Given the description of an element on the screen output the (x, y) to click on. 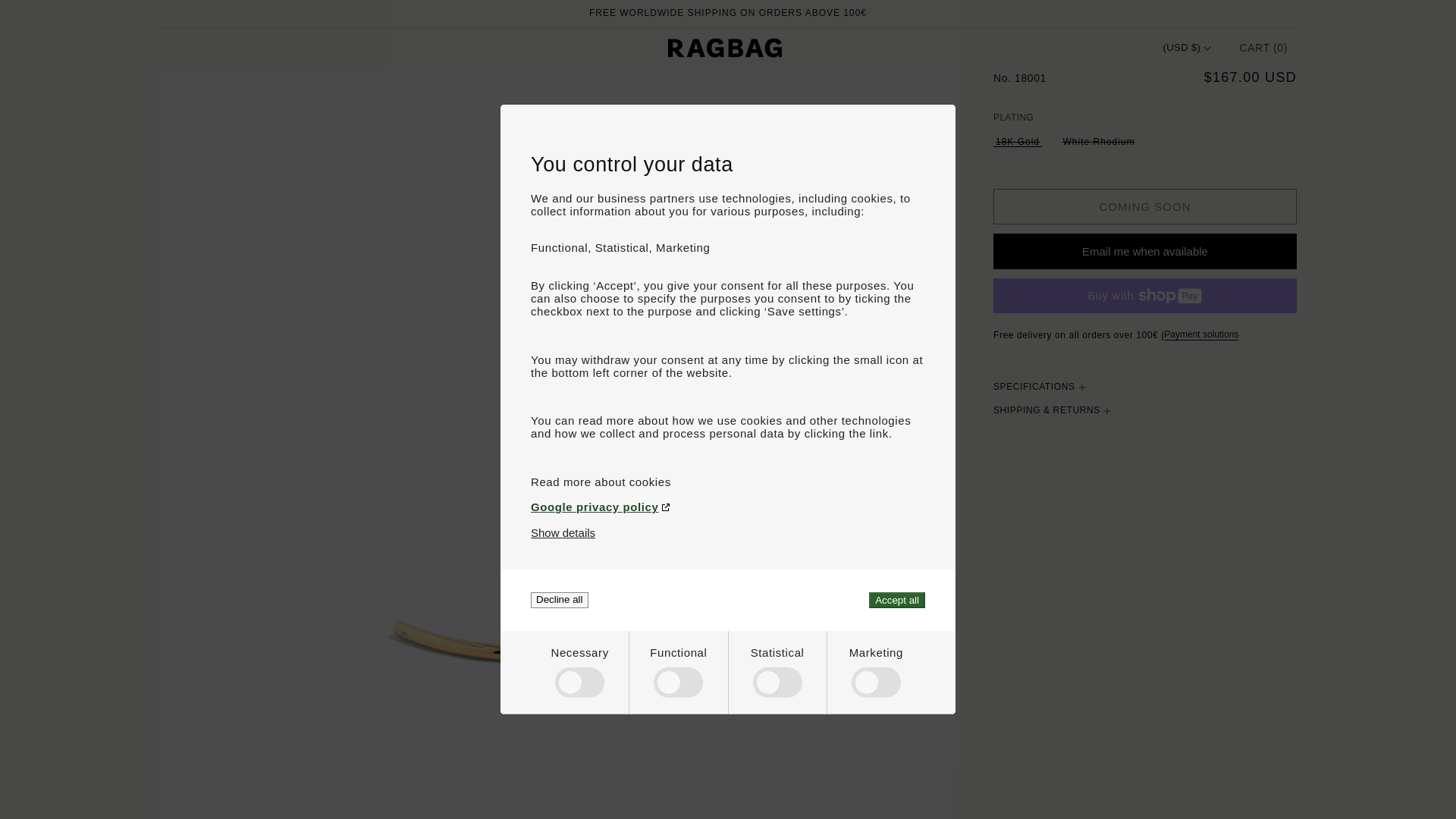
Show details (563, 532)
Google privacy policy (727, 506)
Read more about cookies (727, 481)
